Given the description of an element on the screen output the (x, y) to click on. 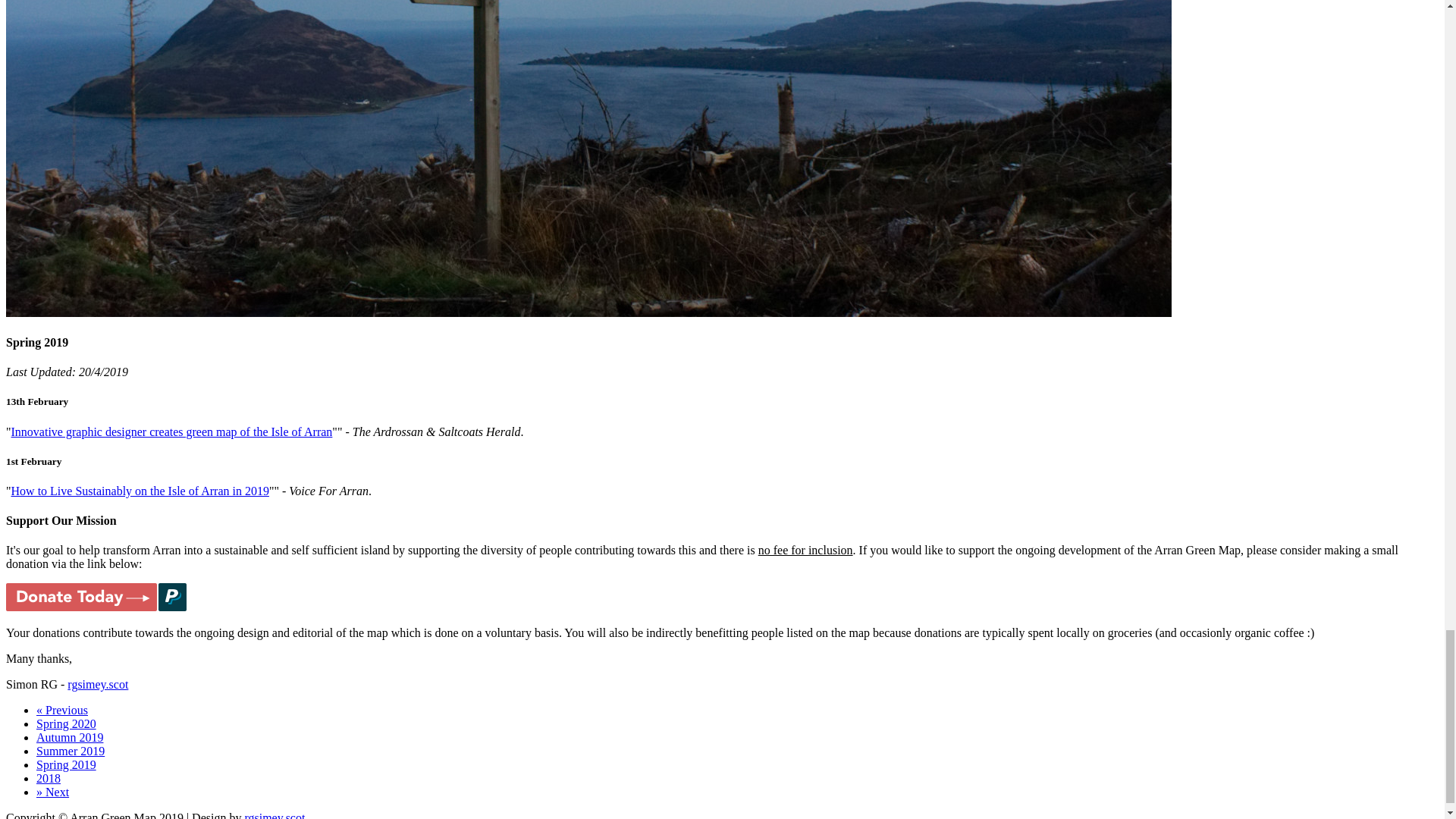
Spring 2019 (66, 764)
How to Live Sustainably on the Isle of Arran in 2019 (140, 490)
Summer 2019 (70, 750)
2018 (48, 778)
Autumn 2019 (69, 737)
PayPal - The safer, easier way to pay online! (95, 596)
rgsimey.scot (97, 684)
Spring 2020 (66, 723)
